Given the description of an element on the screen output the (x, y) to click on. 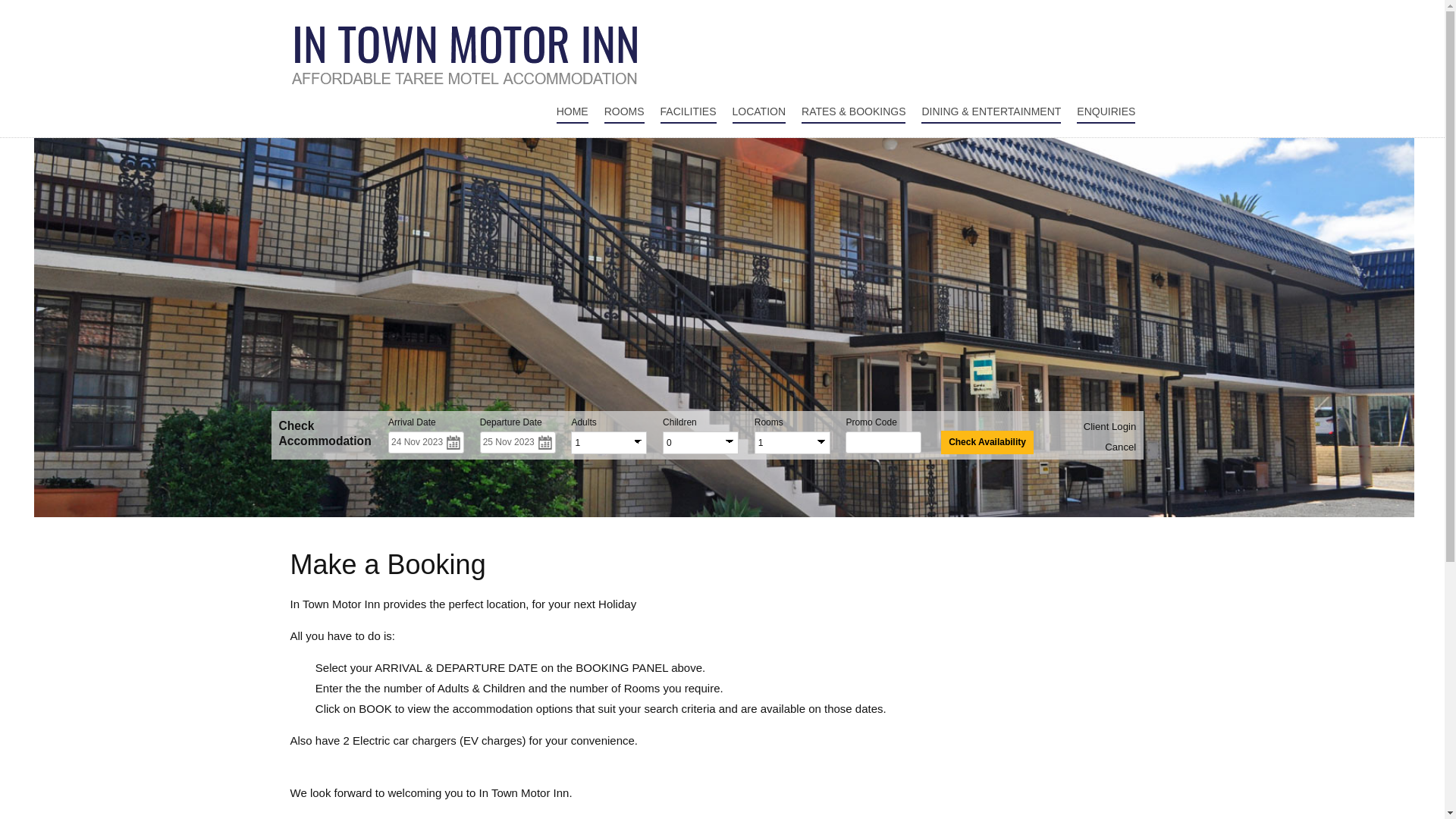
Cancel Element type: text (1119, 446)
Check Availability Element type: text (987, 442)
DINING & ENTERTAINMENT Element type: text (990, 112)
ENQUIRIES Element type: text (1105, 112)
LOCATION Element type: text (759, 112)
HOME Element type: text (572, 112)
RATES & BOOKINGS Element type: text (853, 112)
FACILITIES Element type: text (688, 112)
ROOMS Element type: text (624, 112)
Client Login Element type: text (1109, 426)
